Given the description of an element on the screen output the (x, y) to click on. 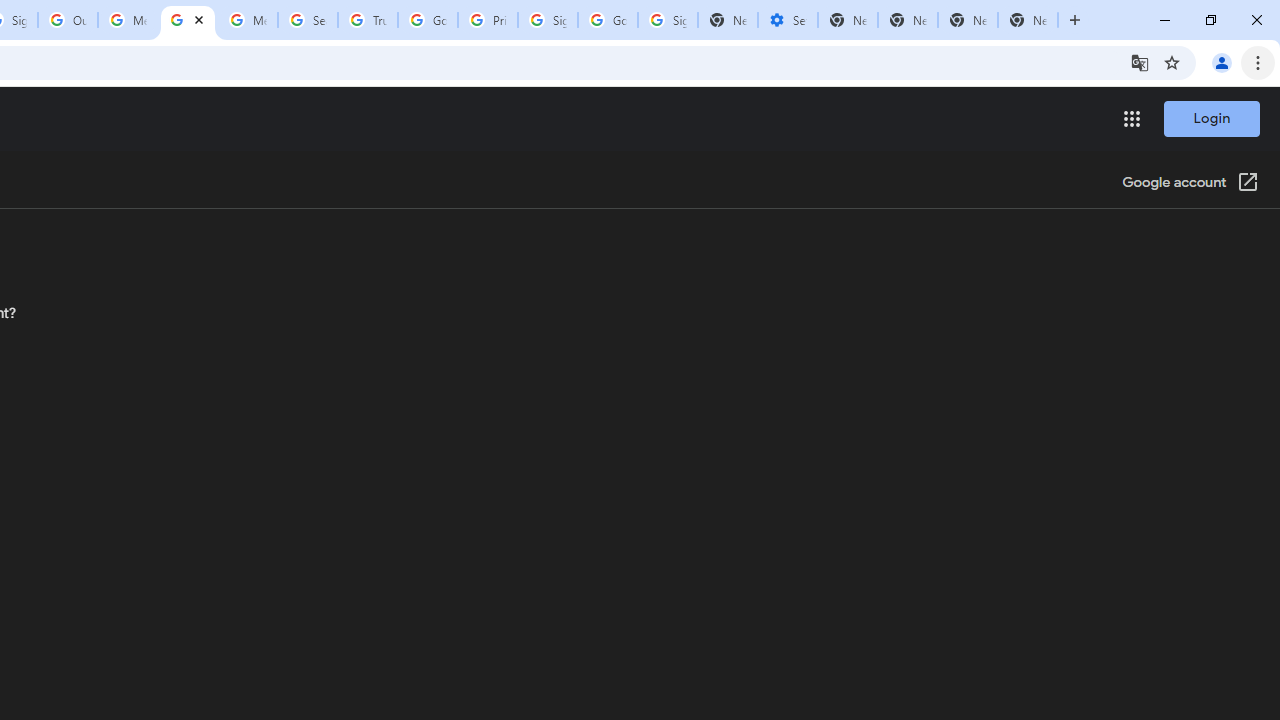
Trusted Information and Content - Google Safety Center (367, 20)
Google Ads - Sign in (428, 20)
Settings - Performance (787, 20)
Translate this page (1139, 62)
Sign in - Google Accounts (548, 20)
Search our Doodle Library Collection - Google Doodles (307, 20)
New Tab (1028, 20)
